Given the description of an element on the screen output the (x, y) to click on. 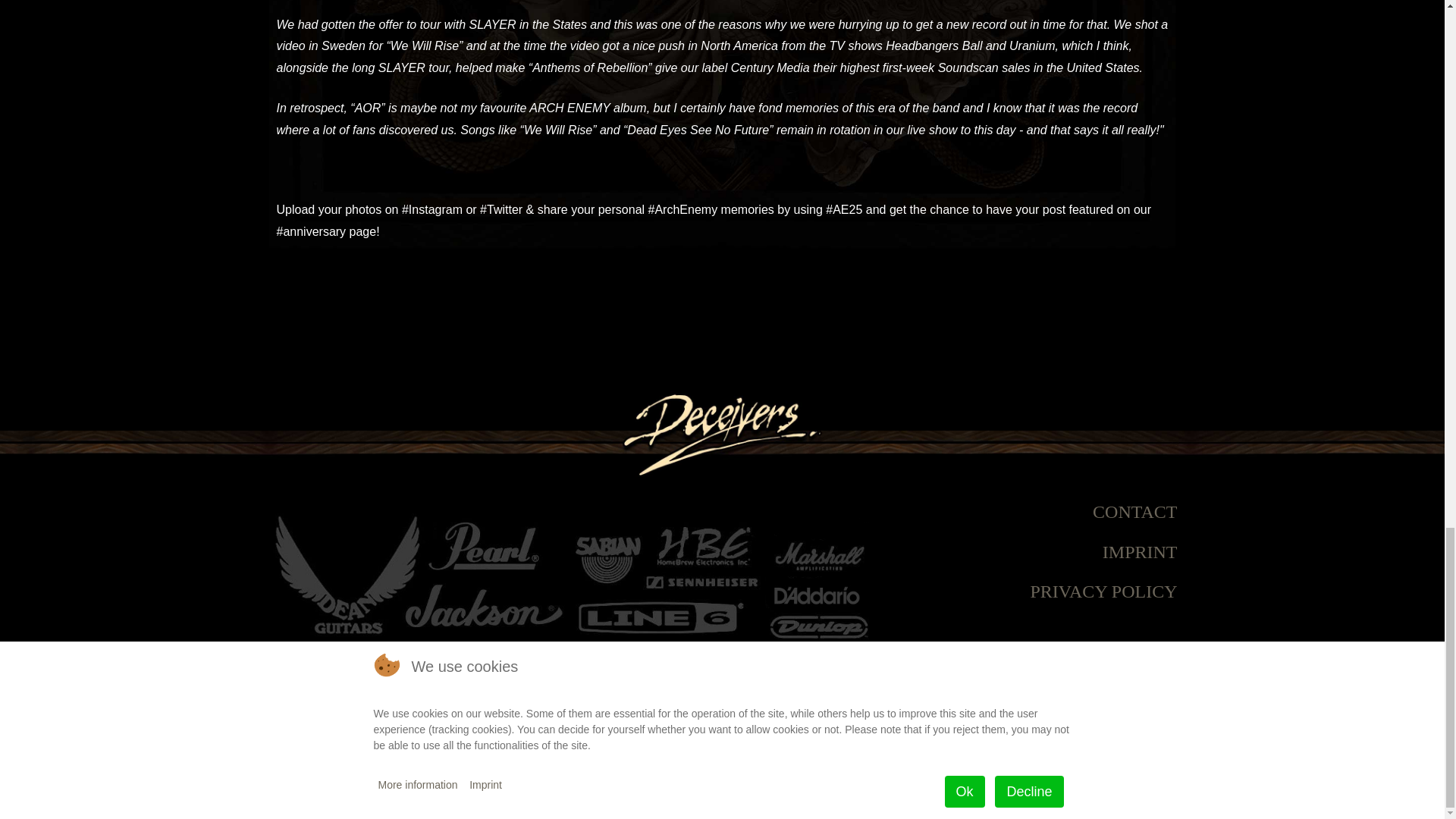
IMPRINT (1139, 551)
PRIVACY POLICY (1102, 591)
CONTACT (1134, 511)
